Given the description of an element on the screen output the (x, y) to click on. 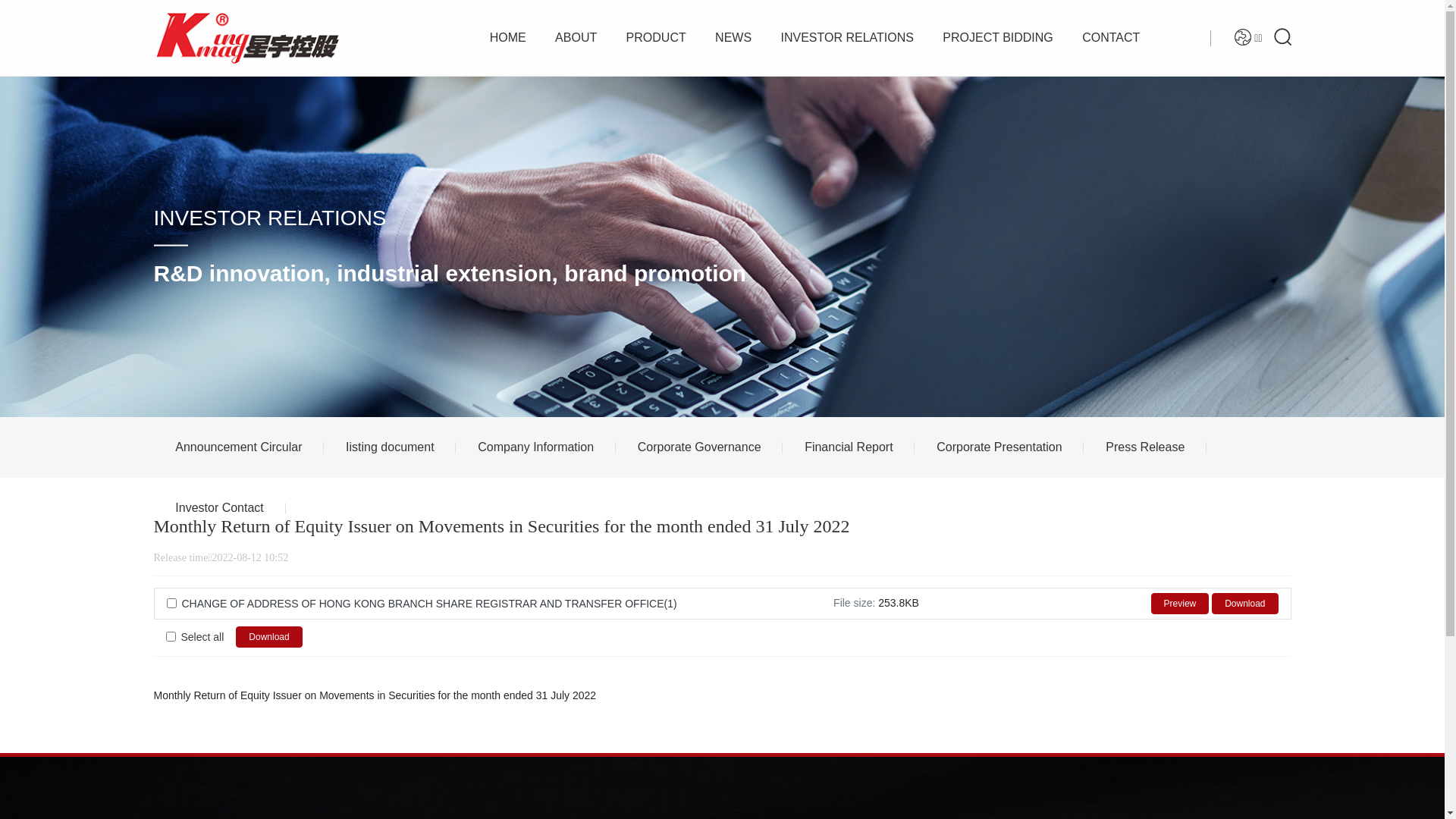
Press Release Element type: text (1144, 447)
Iisting document Element type: text (389, 447)
Investor Contact Element type: text (219, 507)
PRODUCT Element type: text (656, 37)
INVESTOR RELATIONS Element type: text (269, 217)
Download Element type: text (268, 636)
Financial Report Element type: text (848, 447)
Corporate Governance Element type: text (698, 447)
NEWS Element type: text (733, 37)
ABOUT Element type: text (575, 37)
INVESTOR RELATIONS Element type: hover (722, 246)
PROJECT BIDDING Element type: text (997, 37)
Download Element type: text (1244, 603)
CONTACT Element type: text (1110, 37)
Corporate Presentation Element type: text (998, 447)
HOME Element type: text (507, 37)
INVESTOR RELATIONS Element type: text (846, 37)
Preview Element type: text (1180, 603)
Company Information Element type: text (535, 447)
Announcement Circular Element type: text (238, 447)
